Given the description of an element on the screen output the (x, y) to click on. 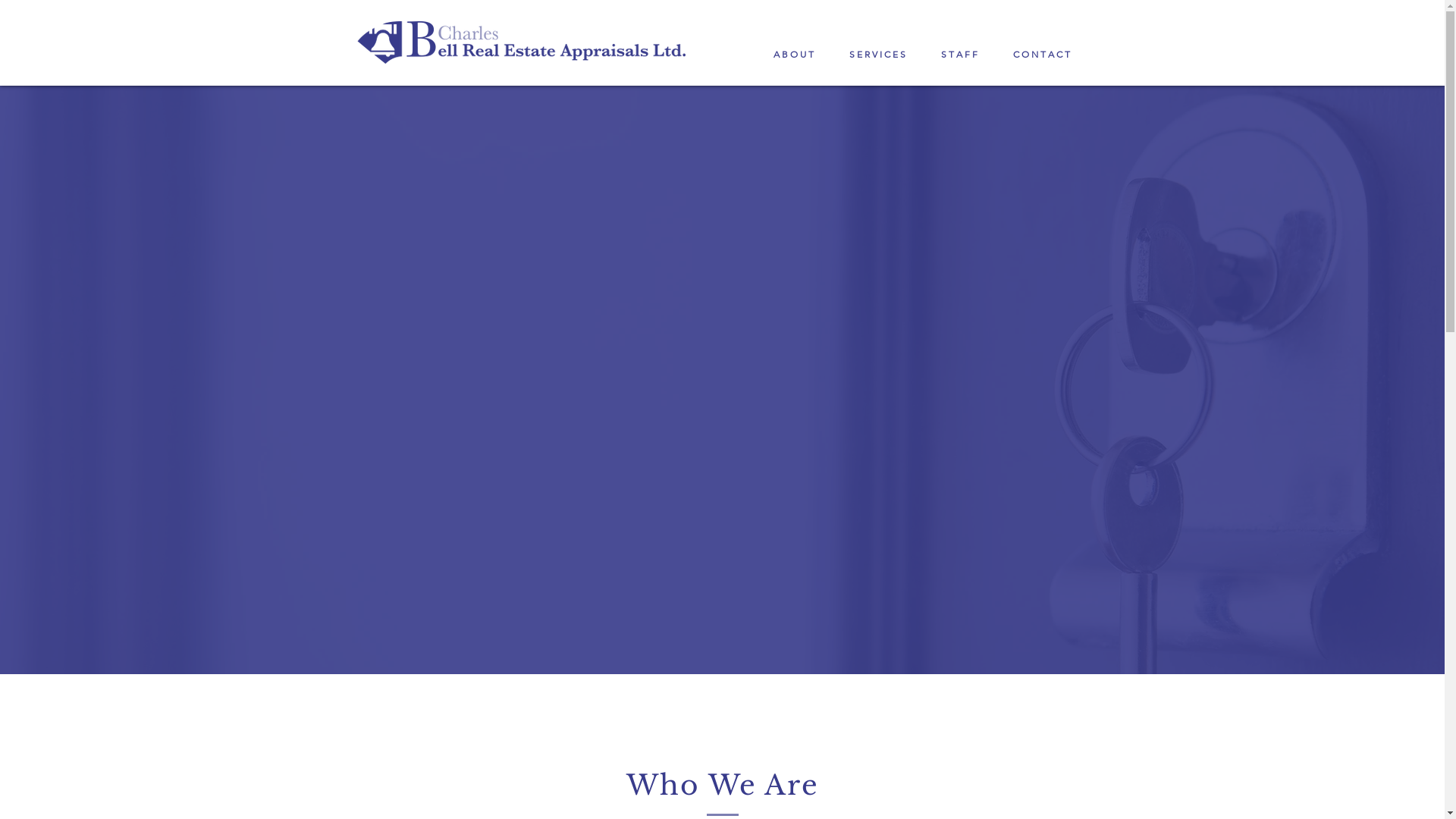
S T A F F Element type: text (959, 54)
A B O U T Element type: text (793, 54)
C O N T A C T Element type: text (1040, 54)
S E R V I C E S Element type: text (876, 54)
